Given the description of an element on the screen output the (x, y) to click on. 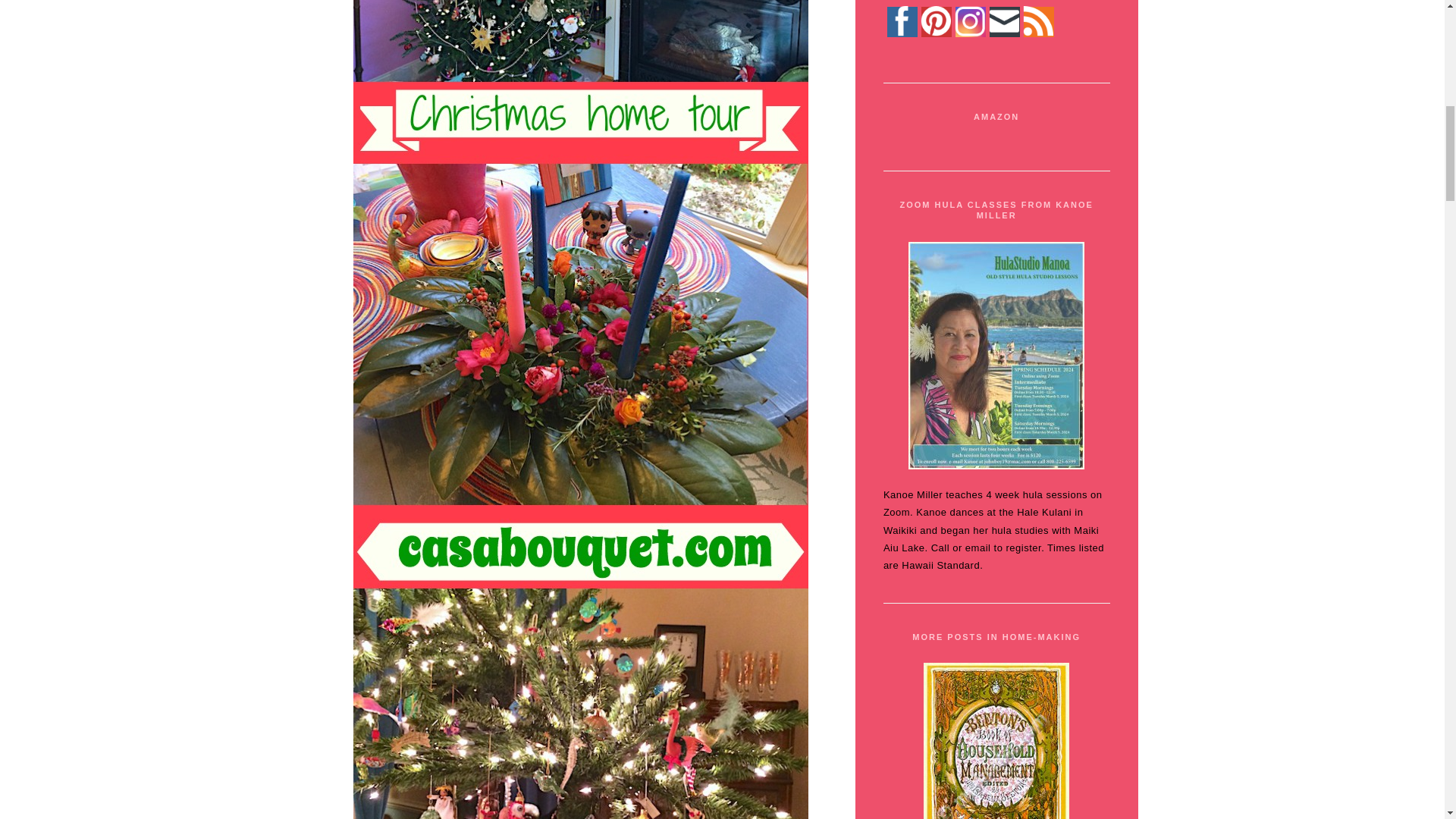
Facebook (901, 20)
RSS (1037, 20)
Follow by Email (1003, 20)
Instagram (970, 20)
Pinterest (935, 20)
